Given the description of an element on the screen output the (x, y) to click on. 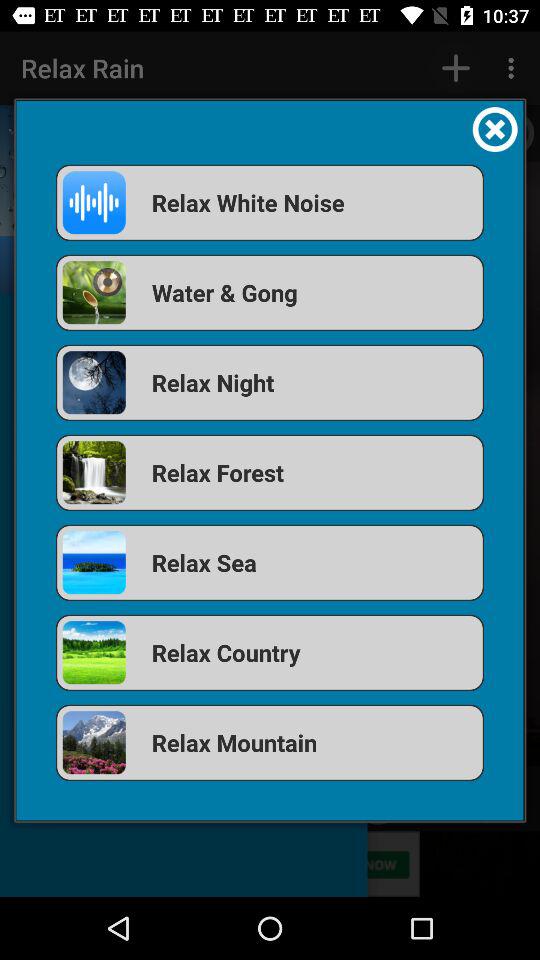
turn off the app below the relax forest item (269, 562)
